Given the description of an element on the screen output the (x, y) to click on. 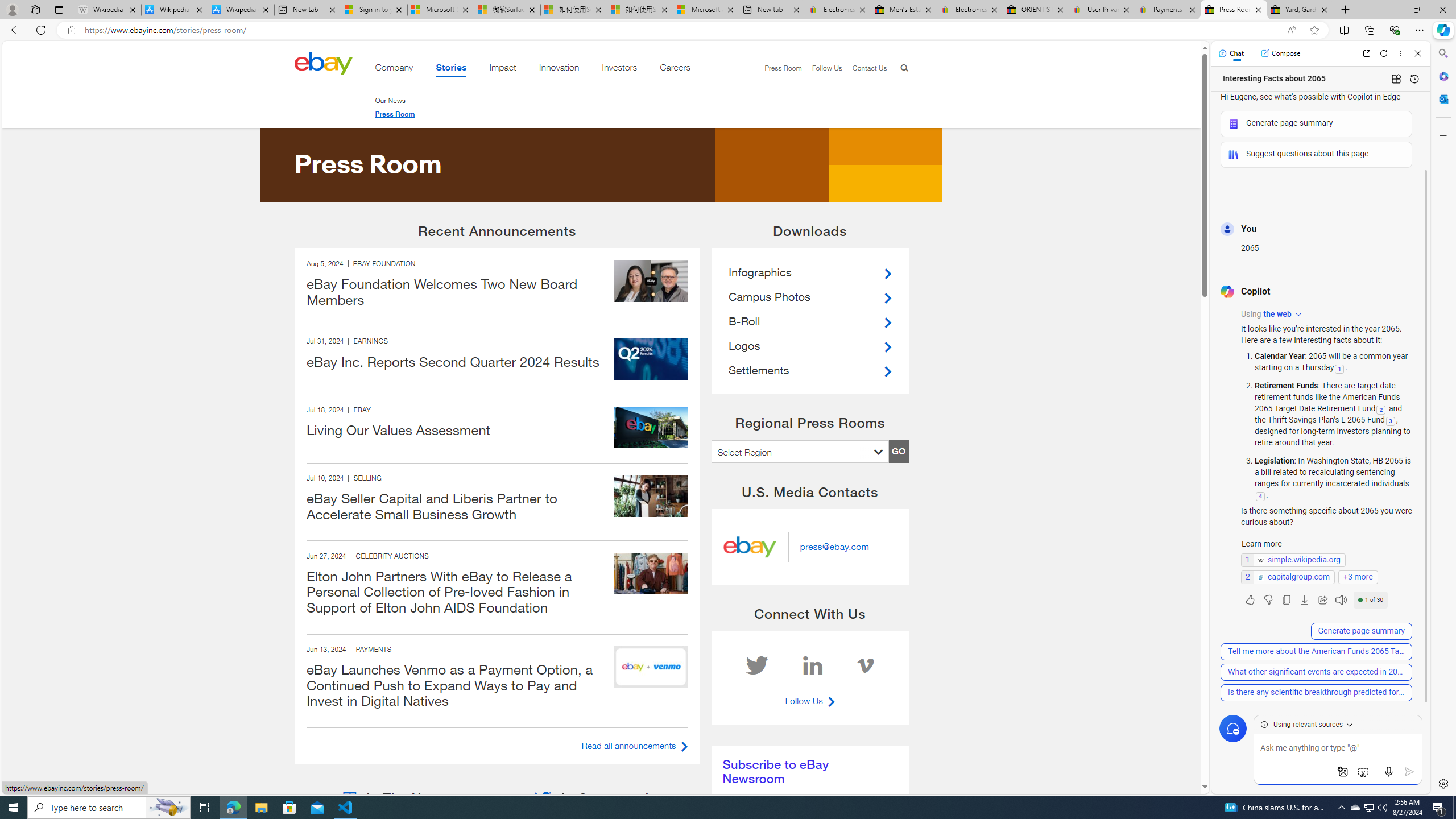
Class: desktop (323, 63)
